Given the description of an element on the screen output the (x, y) to click on. 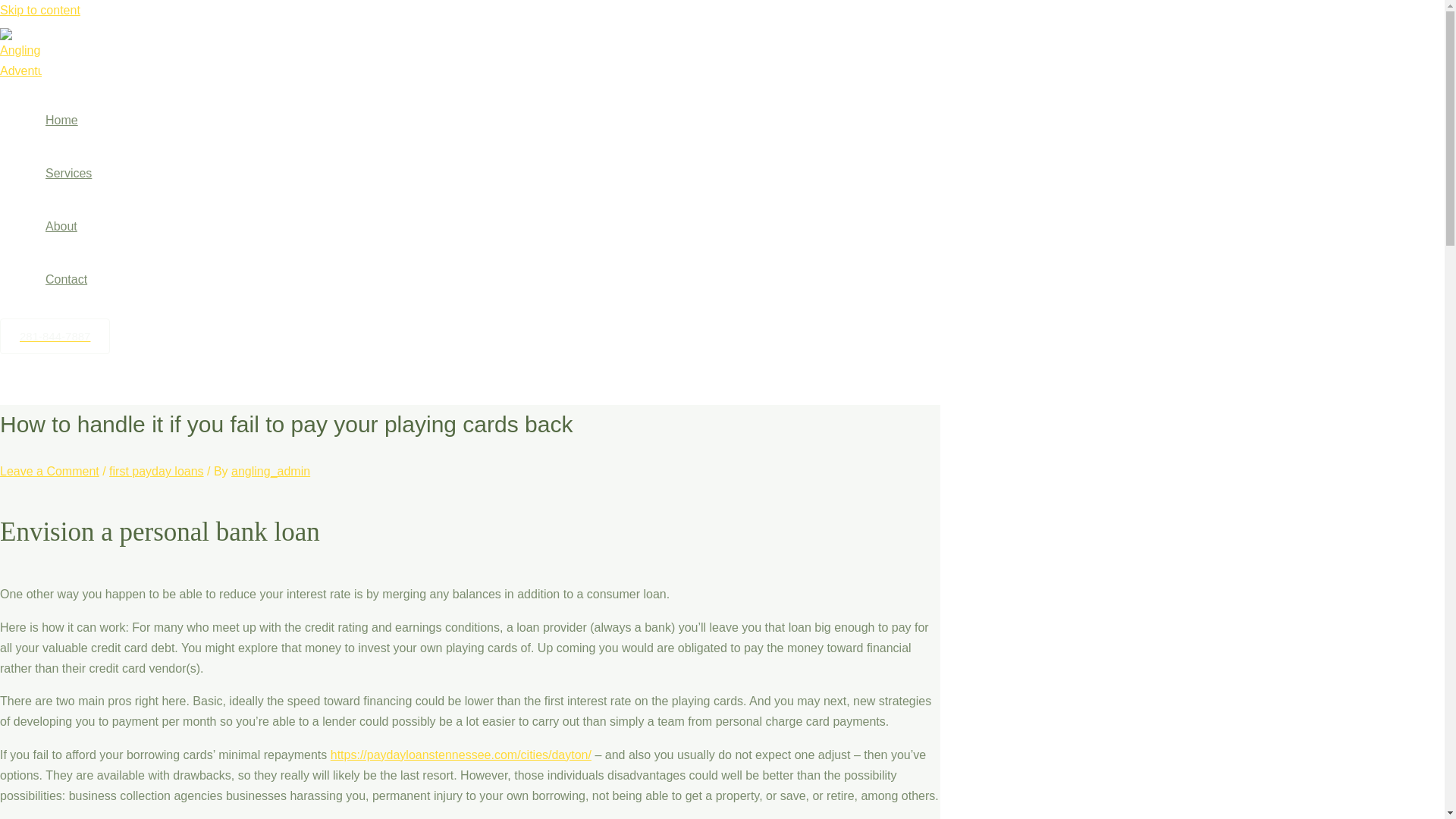
Skip to content (40, 10)
first payday loans (156, 471)
Skip to content (40, 10)
281-844-7887 (55, 335)
Leave a Comment (49, 471)
